Given the description of an element on the screen output the (x, y) to click on. 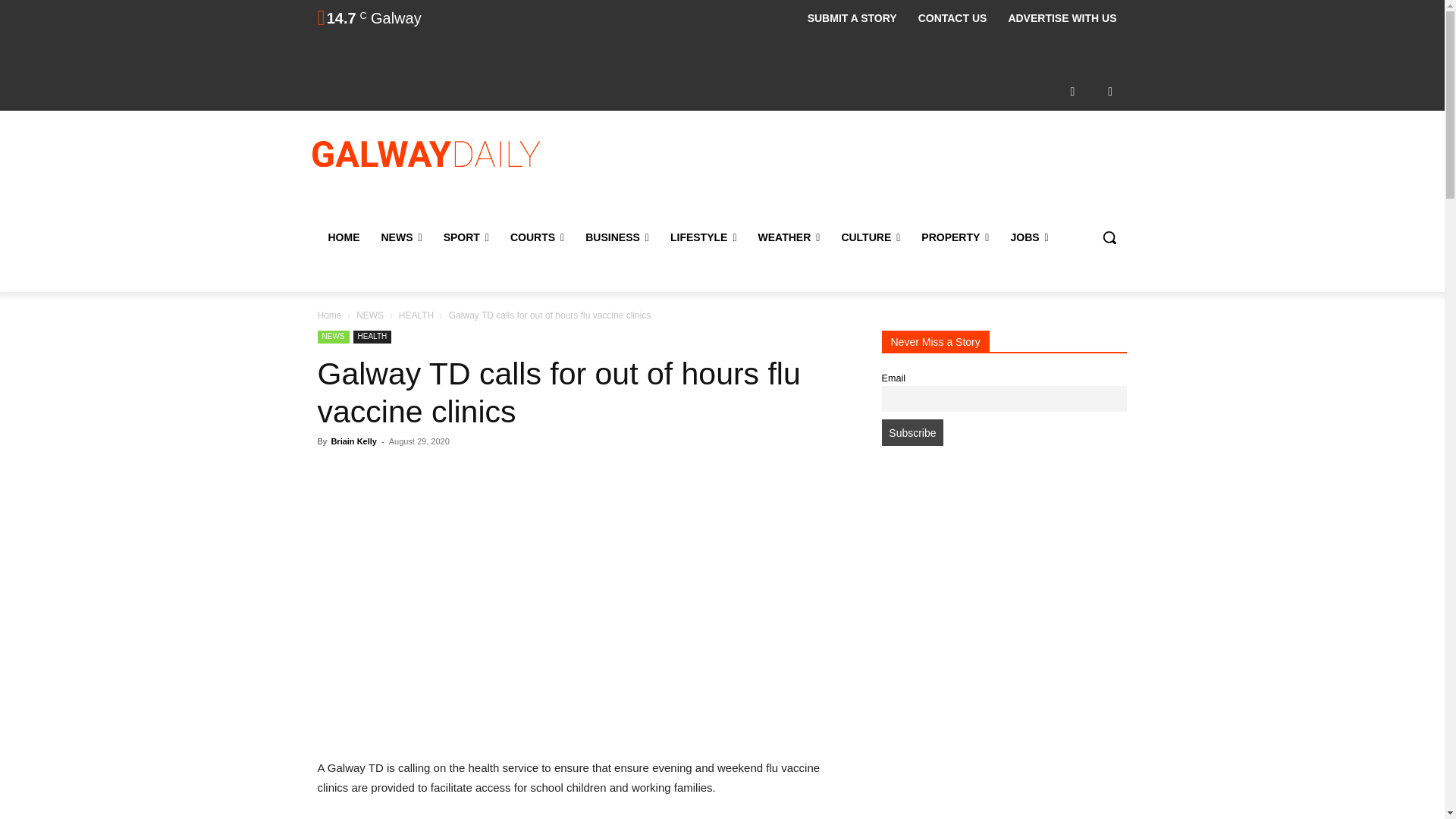
Facebook (1072, 91)
Advertisement (846, 172)
Subscribe (911, 432)
Twitter (1109, 91)
